Given the description of an element on the screen output the (x, y) to click on. 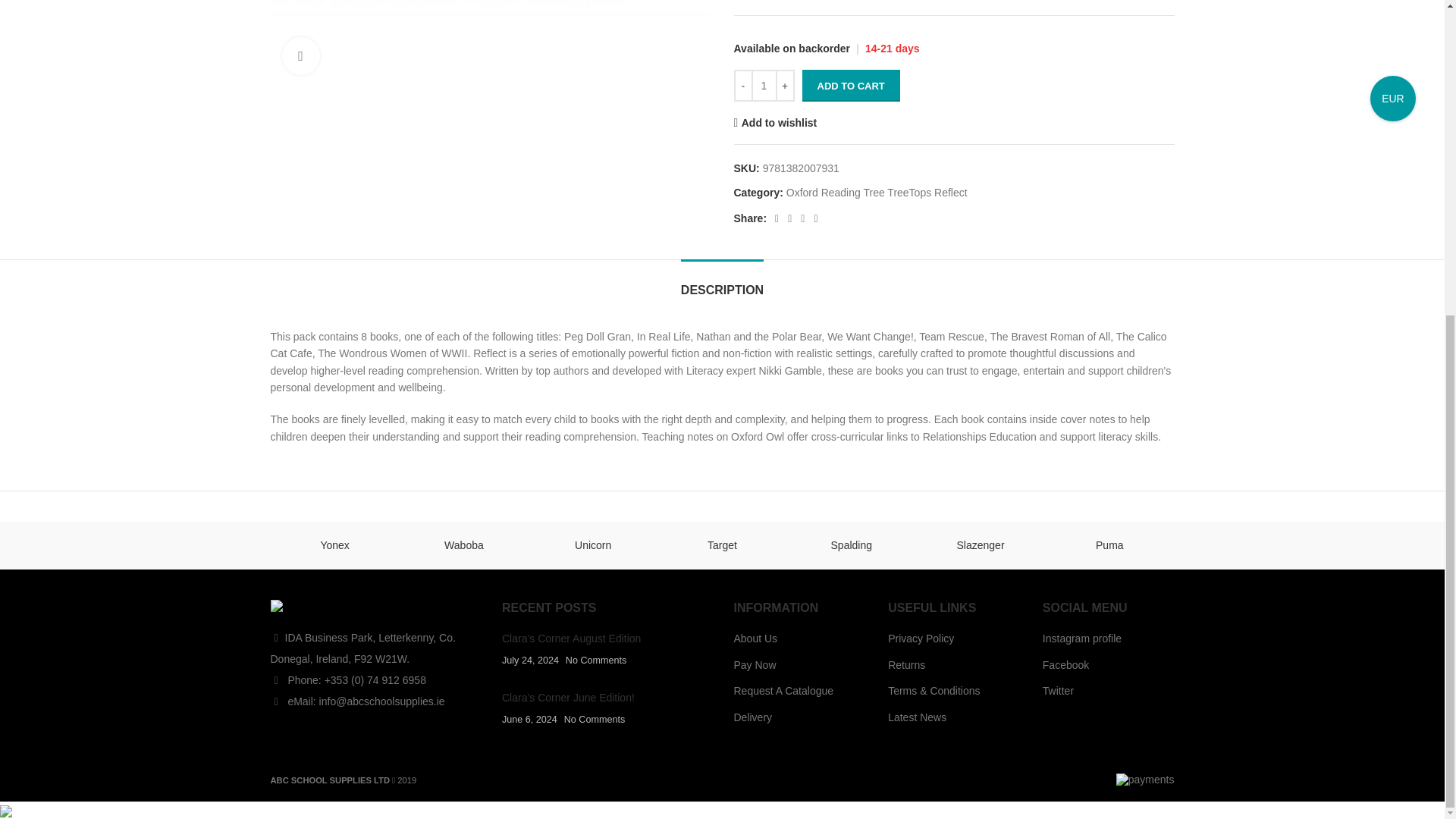
Unicorn (593, 544)
Spalding (851, 544)
Waboba (463, 544)
Target (722, 544)
Slazenger (980, 544)
PowerGlide (1238, 544)
Yonex (333, 544)
Puma (1109, 544)
